Given the description of an element on the screen output the (x, y) to click on. 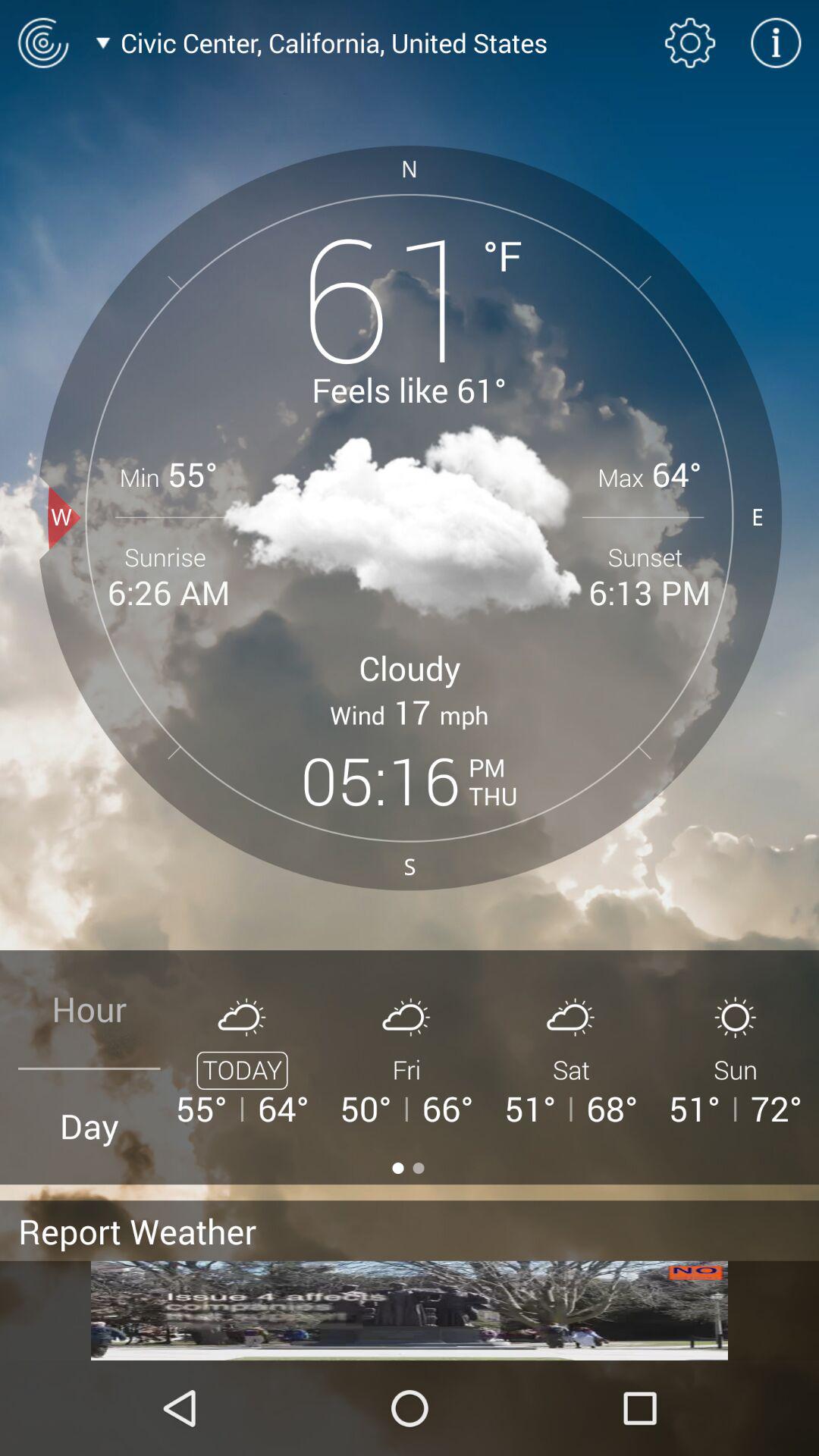
click the advertisement at bottom (409, 1310)
